Given the description of an element on the screen output the (x, y) to click on. 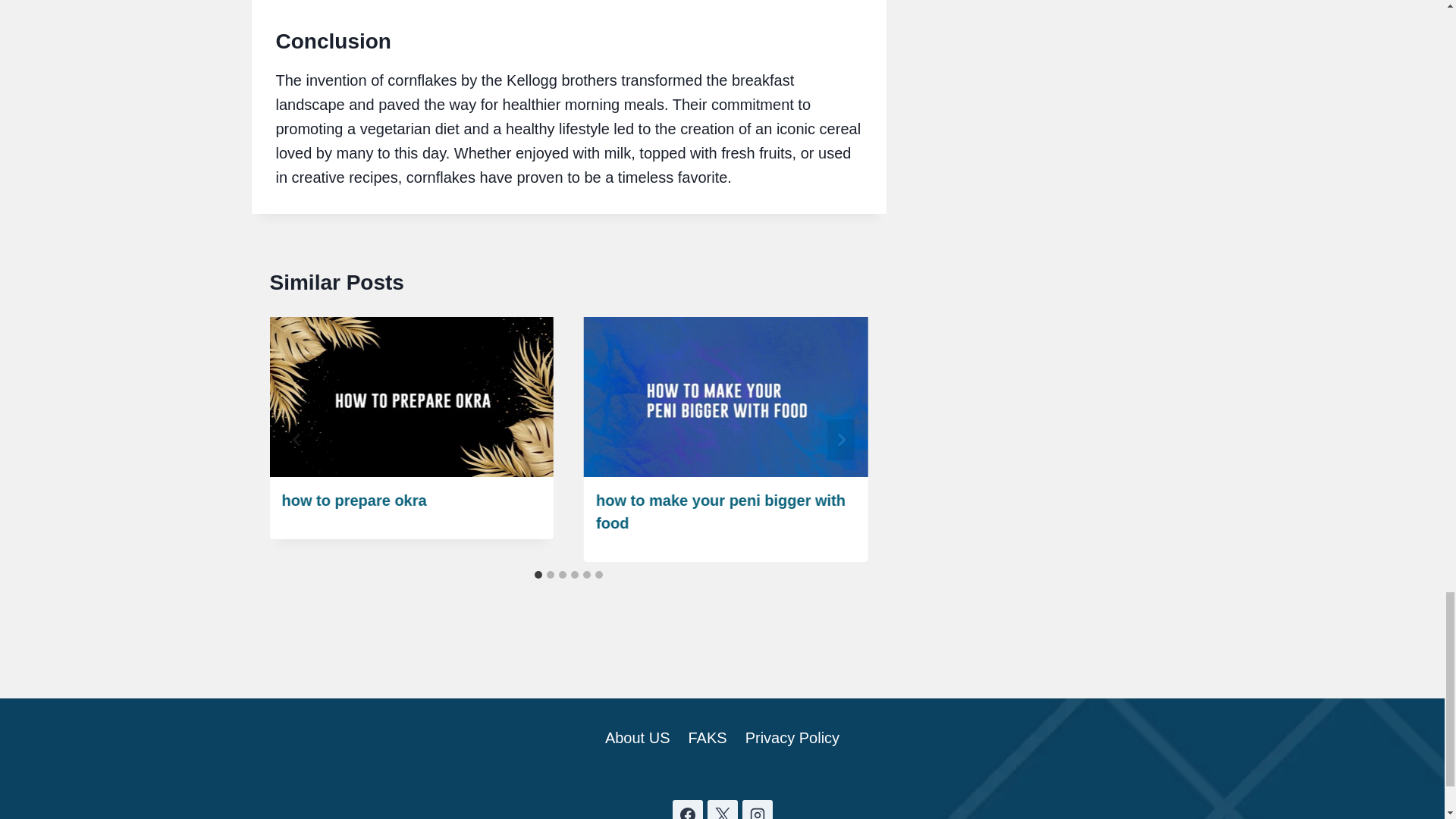
how to make your peni bigger with food (720, 511)
how to prepare okra (354, 500)
